Given the description of an element on the screen output the (x, y) to click on. 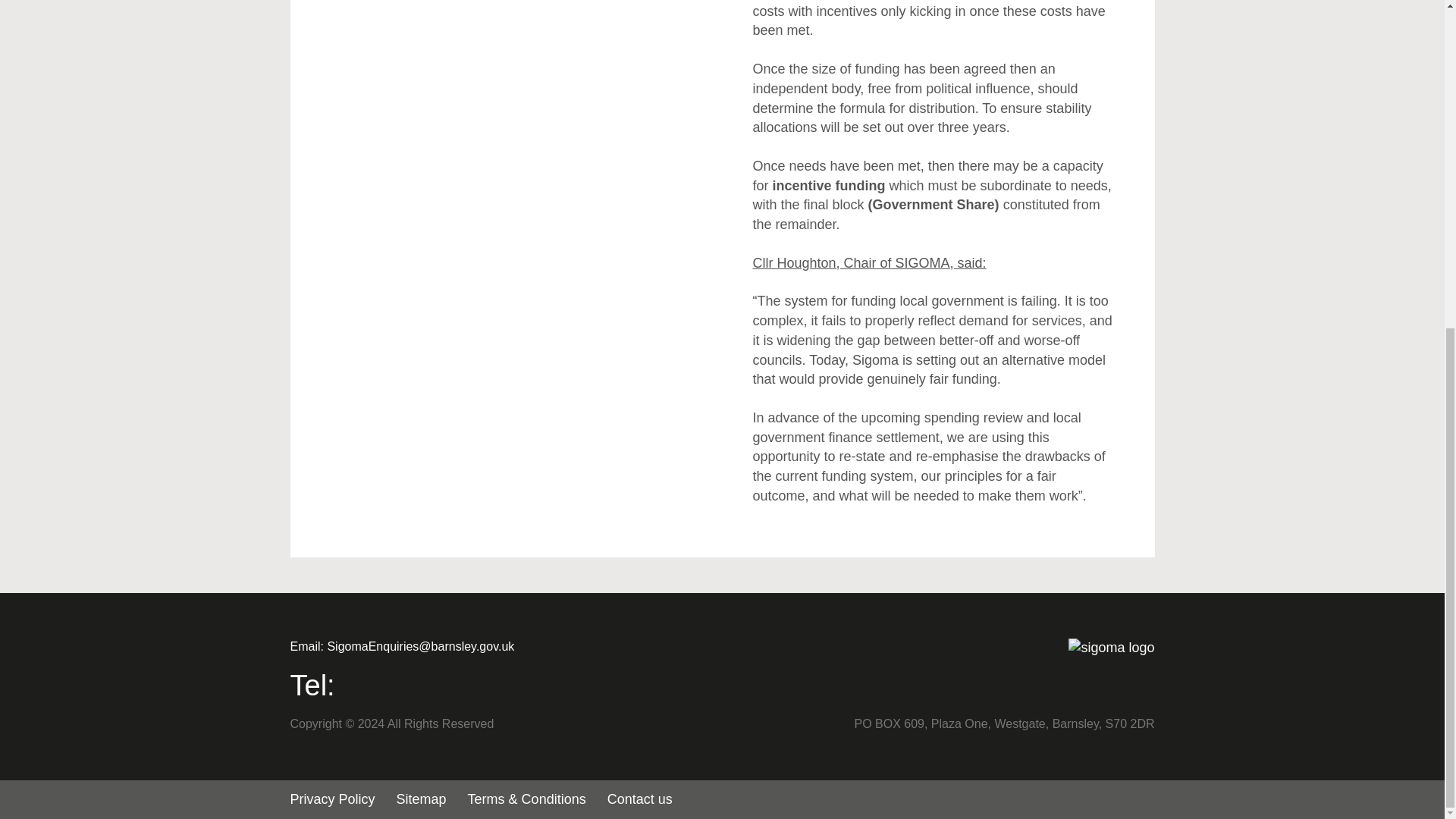
Privacy Policy (331, 798)
Sitemap (421, 798)
Contact us (639, 798)
